Given the description of an element on the screen output the (x, y) to click on. 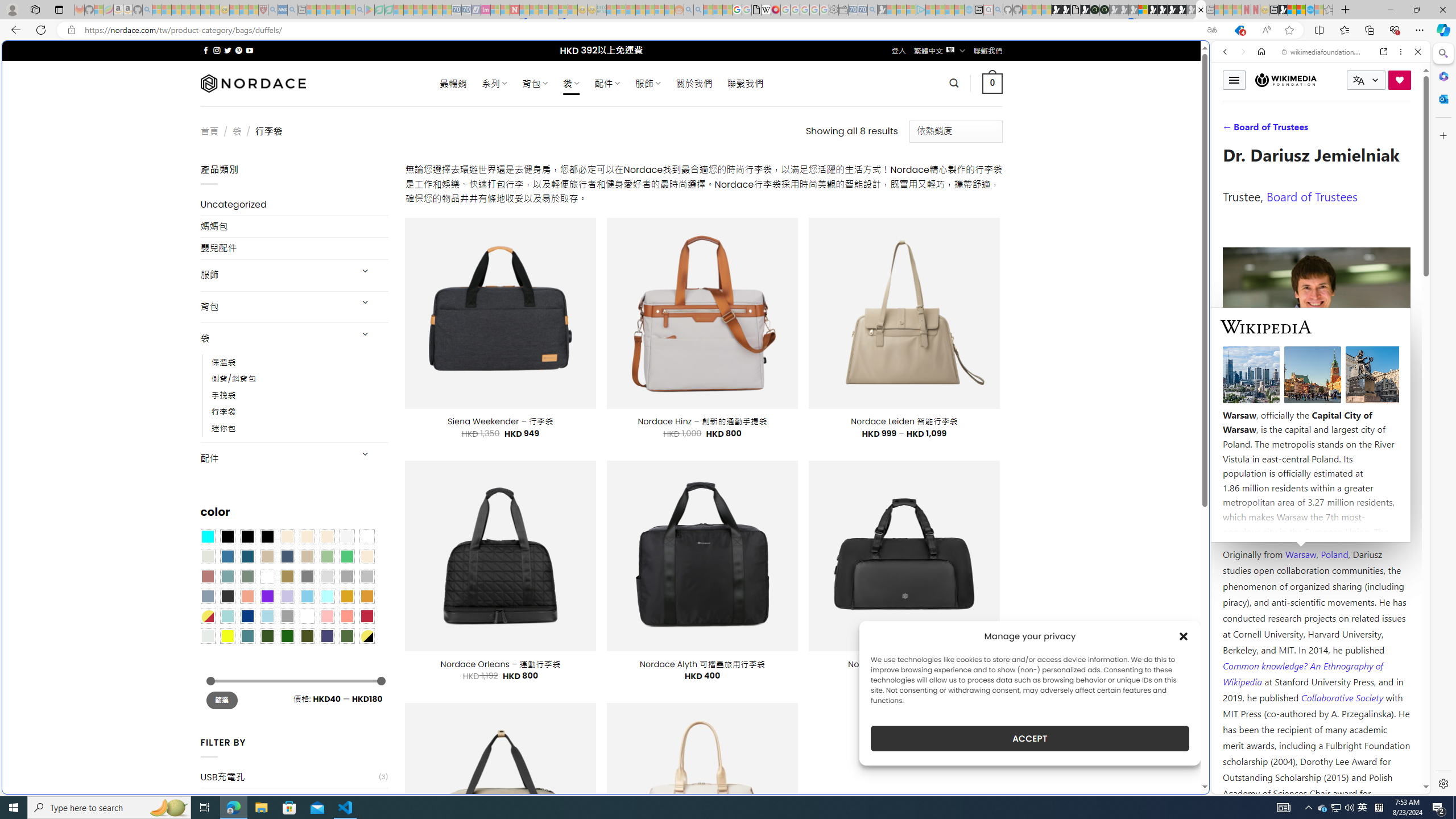
Class: cmplz-close (1183, 636)
utah sues federal government - Search - Sleeping (291, 9)
